Given the description of an element on the screen output the (x, y) to click on. 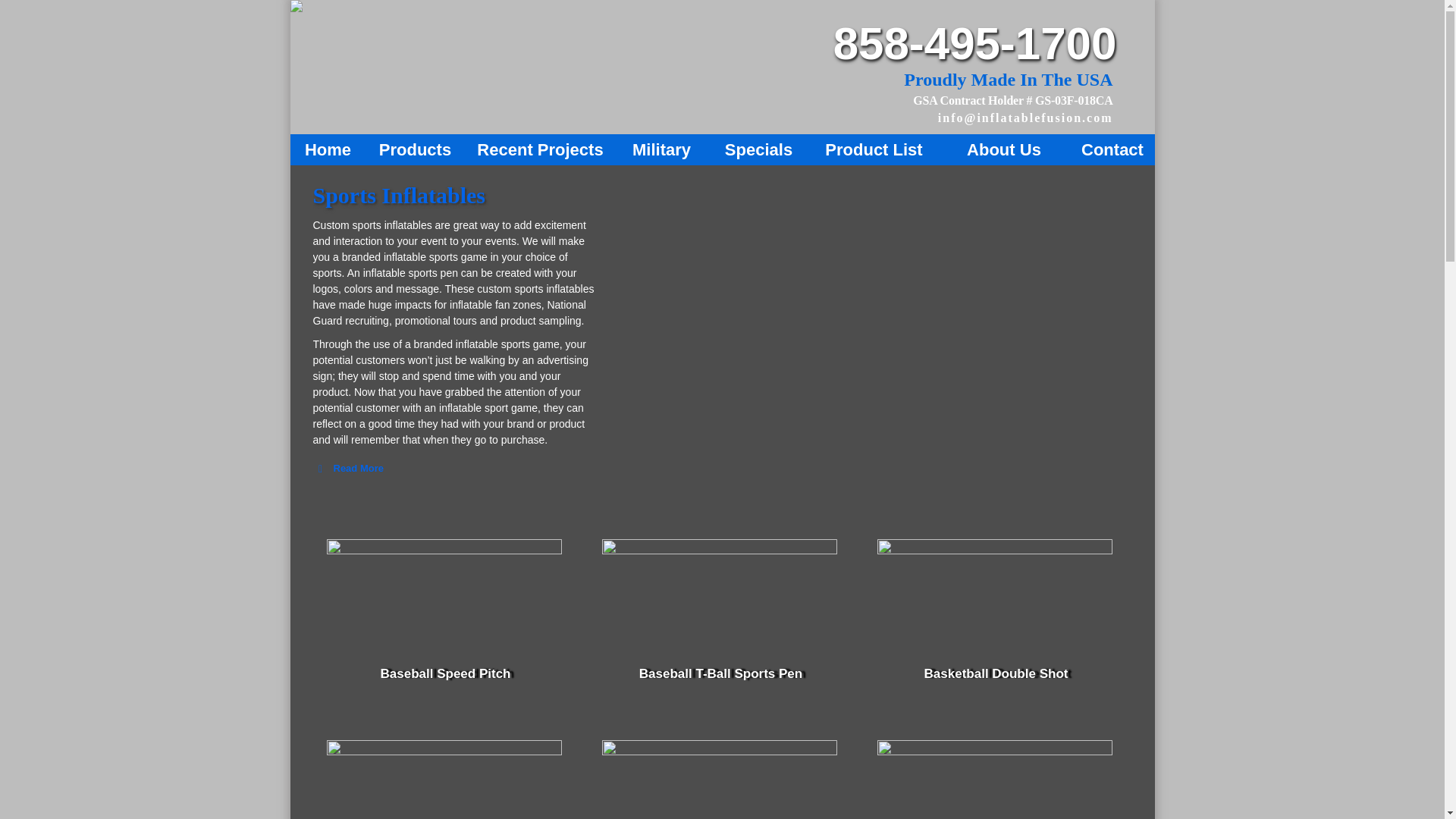
Baseball Speed Pitch (445, 673)
About Us (1003, 149)
Basketball Double Shot (996, 673)
Contact (1112, 149)
Baseball T-Ball Sports Pen (720, 673)
Home (327, 149)
Military (660, 149)
Product List (873, 149)
Products (414, 149)
Recent Projects (539, 149)
